Given the description of an element on the screen output the (x, y) to click on. 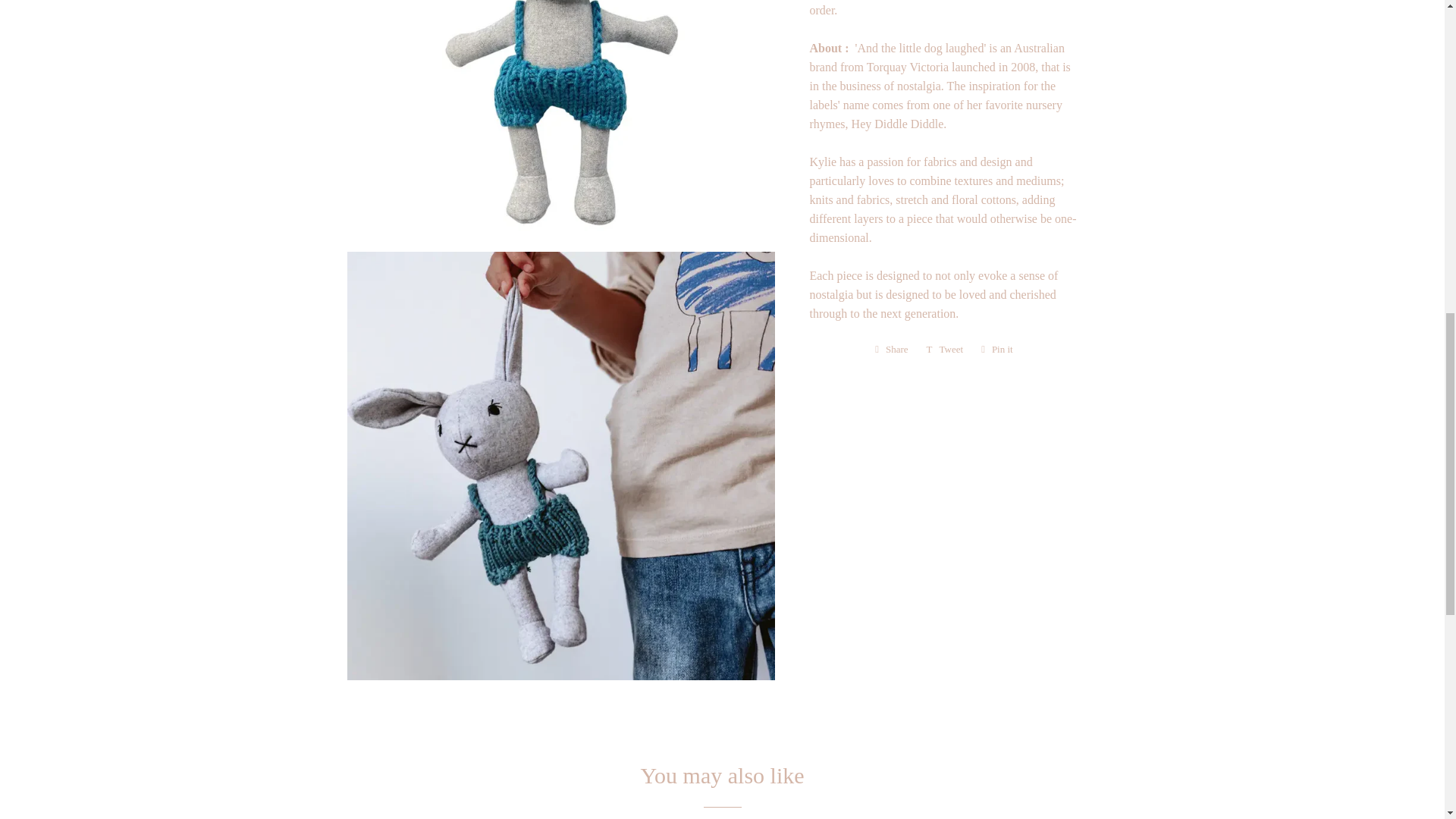
Share on Facebook (891, 349)
Tweet on Twitter (944, 349)
Pin on Pinterest (997, 349)
